Given the description of an element on the screen output the (x, y) to click on. 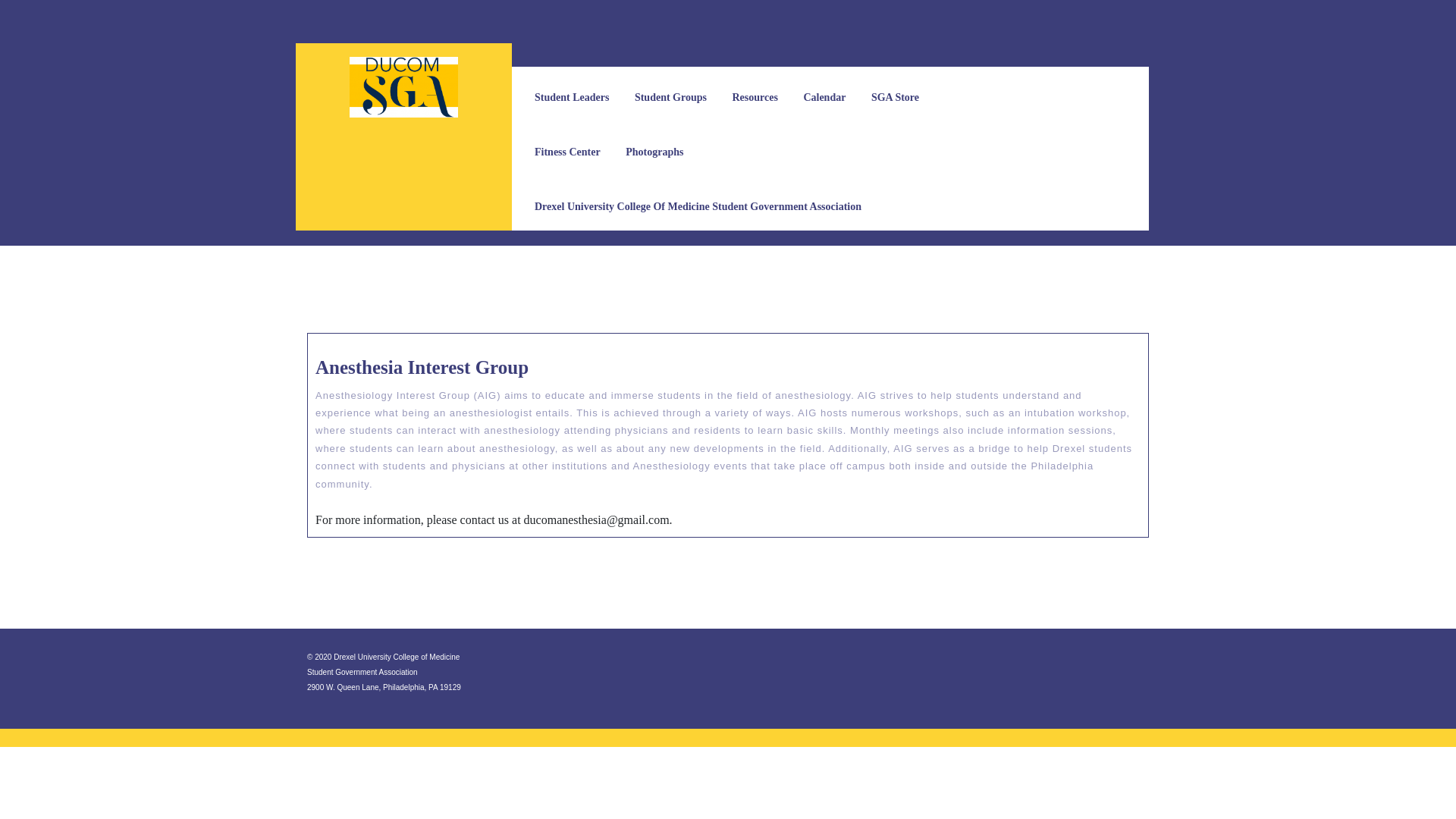
Fitness Center (566, 152)
Calendar (824, 97)
Resources (754, 97)
Student Groups (670, 97)
Anesthesia Interest Group (421, 367)
SGA Store (895, 97)
Anesthesia Interest Group (421, 367)
Student Leaders (571, 97)
Photographs (654, 152)
